Given the description of an element on the screen output the (x, y) to click on. 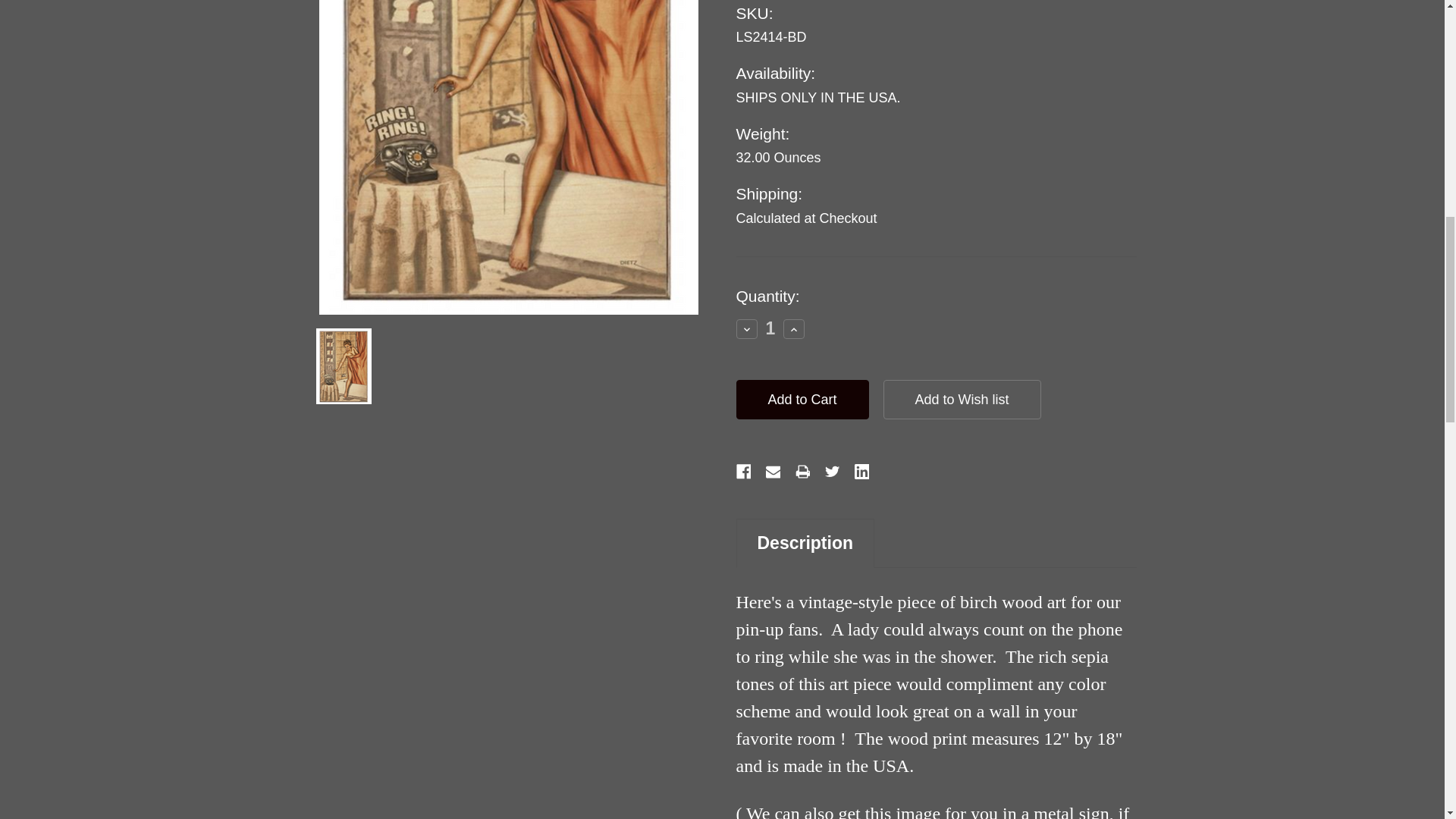
1 (770, 328)
Add to Wish list (962, 399)
"SHOWER  CALL"  BIRCH  WOOD  PRINT (507, 157)
Add to Cart (801, 399)
